Given the description of an element on the screen output the (x, y) to click on. 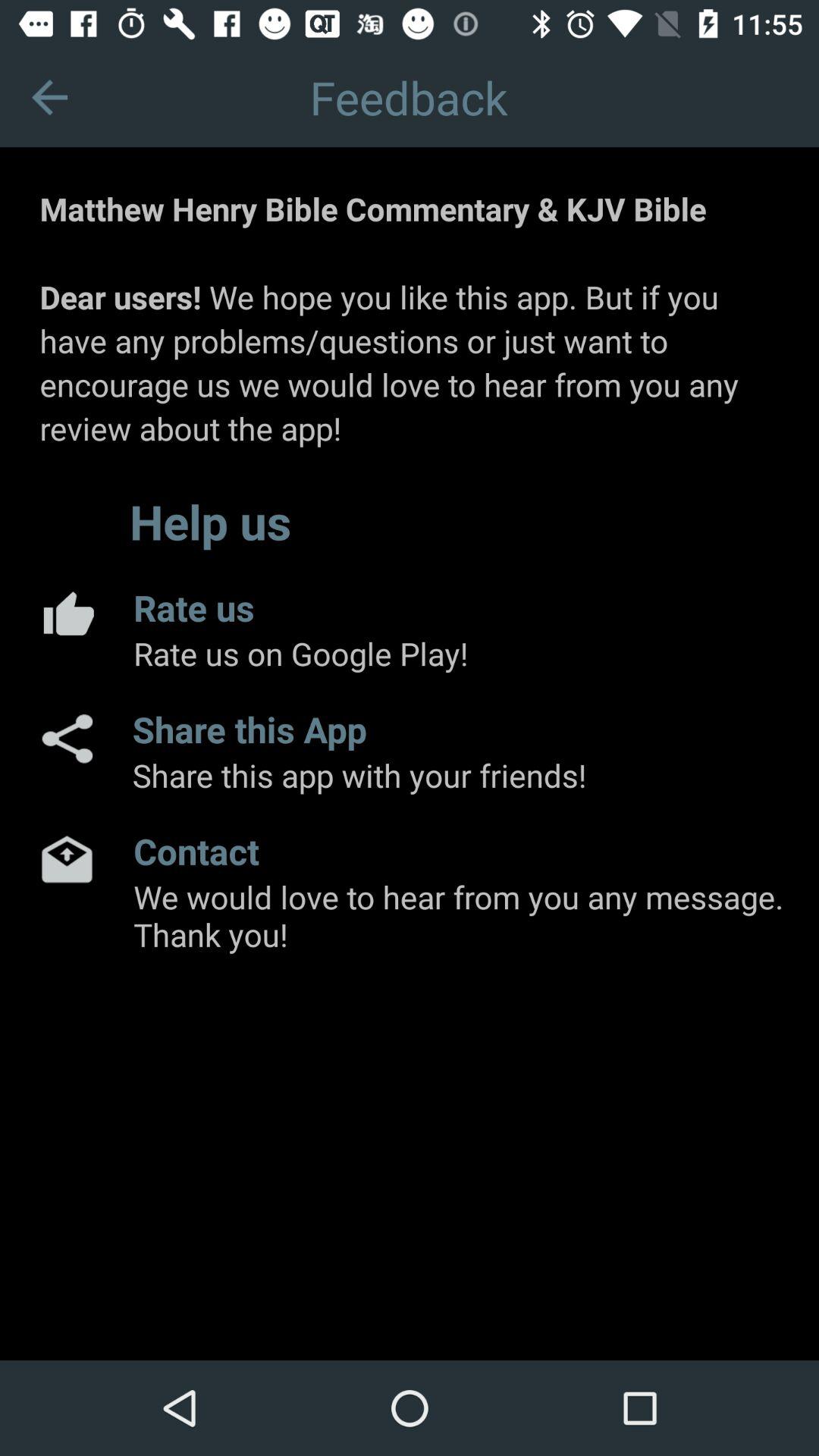
go back (49, 97)
